Given the description of an element on the screen output the (x, y) to click on. 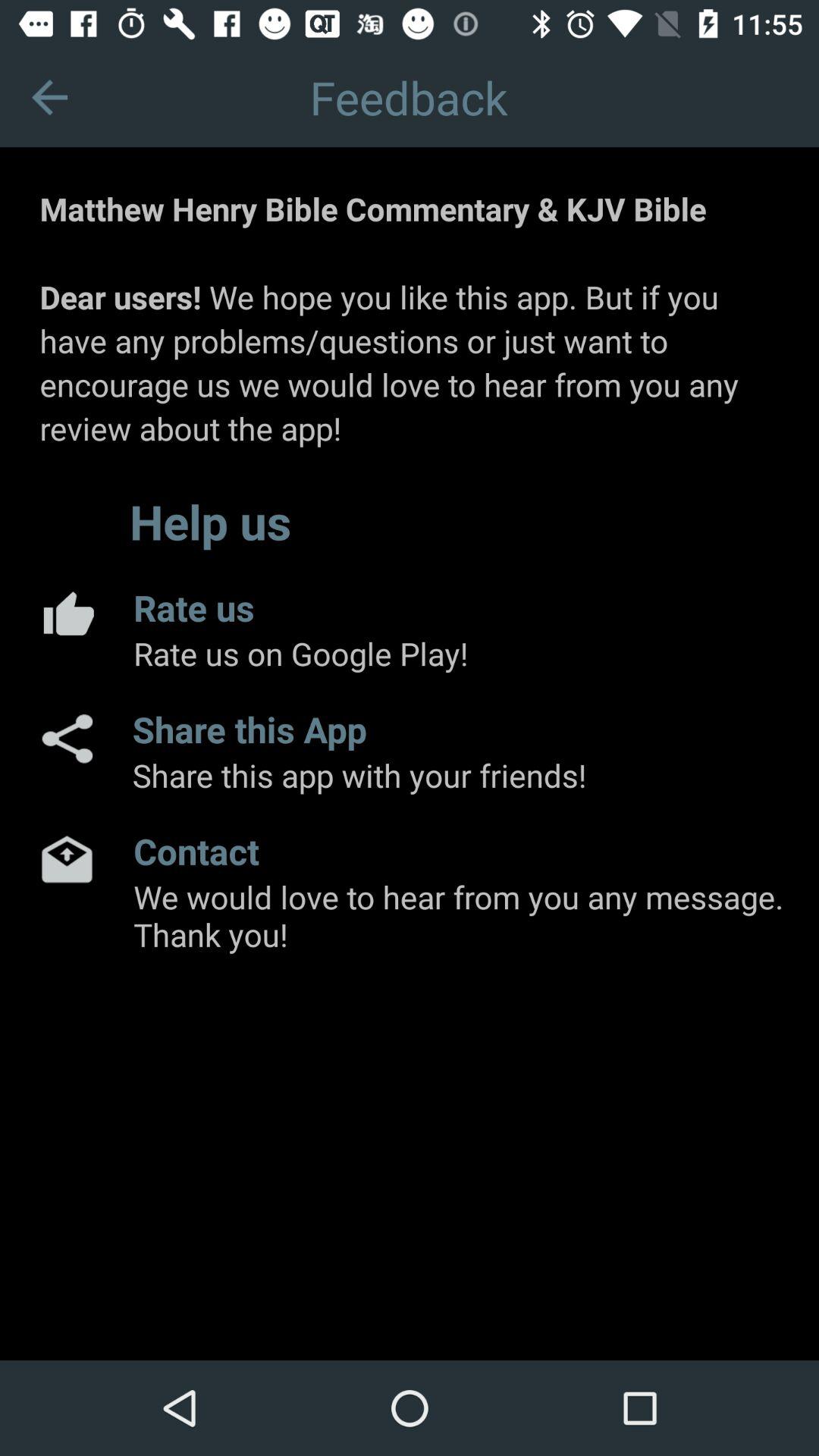
go back (49, 97)
